Given the description of an element on the screen output the (x, y) to click on. 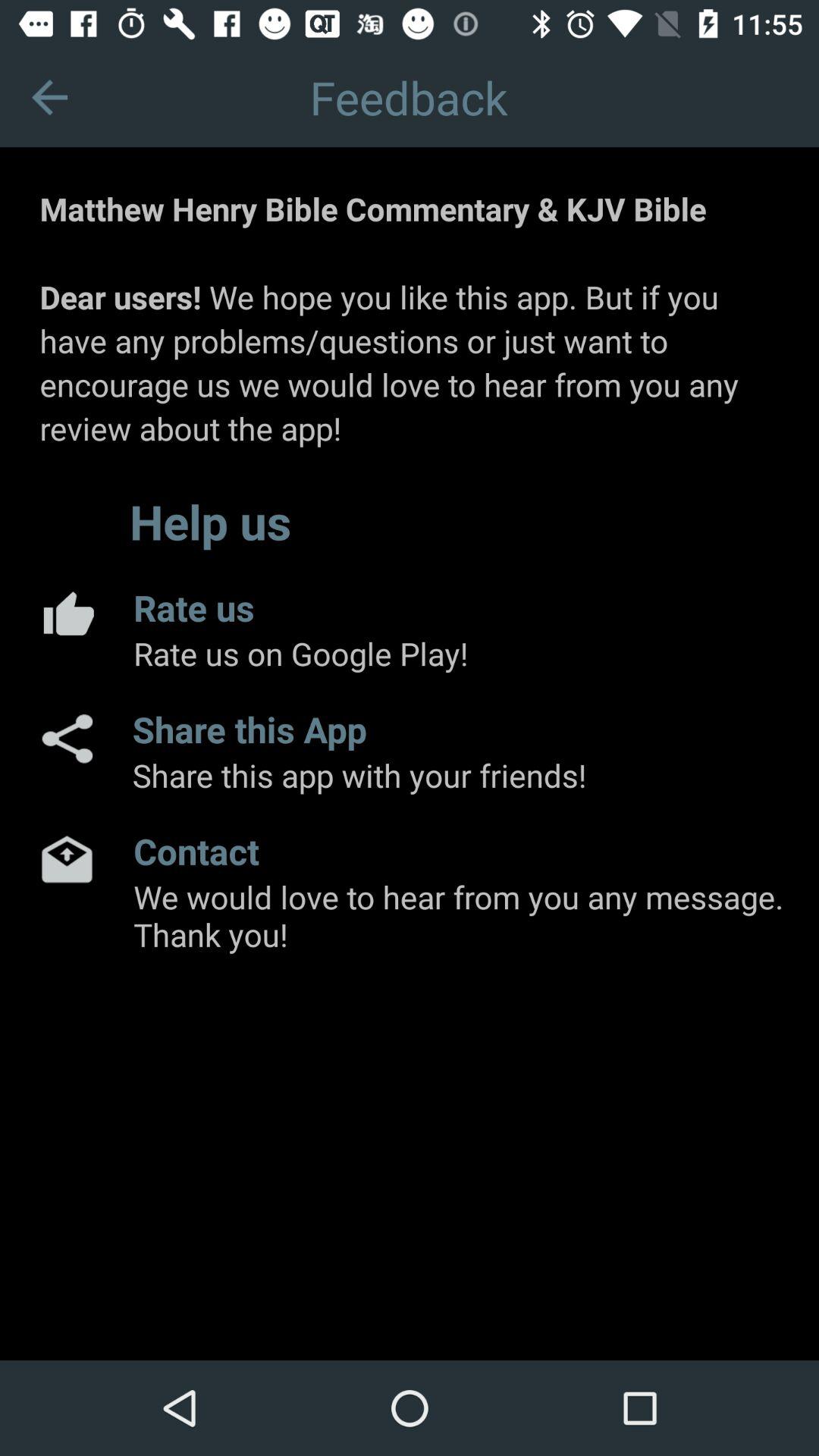
go back (49, 97)
